Given the description of an element on the screen output the (x, y) to click on. 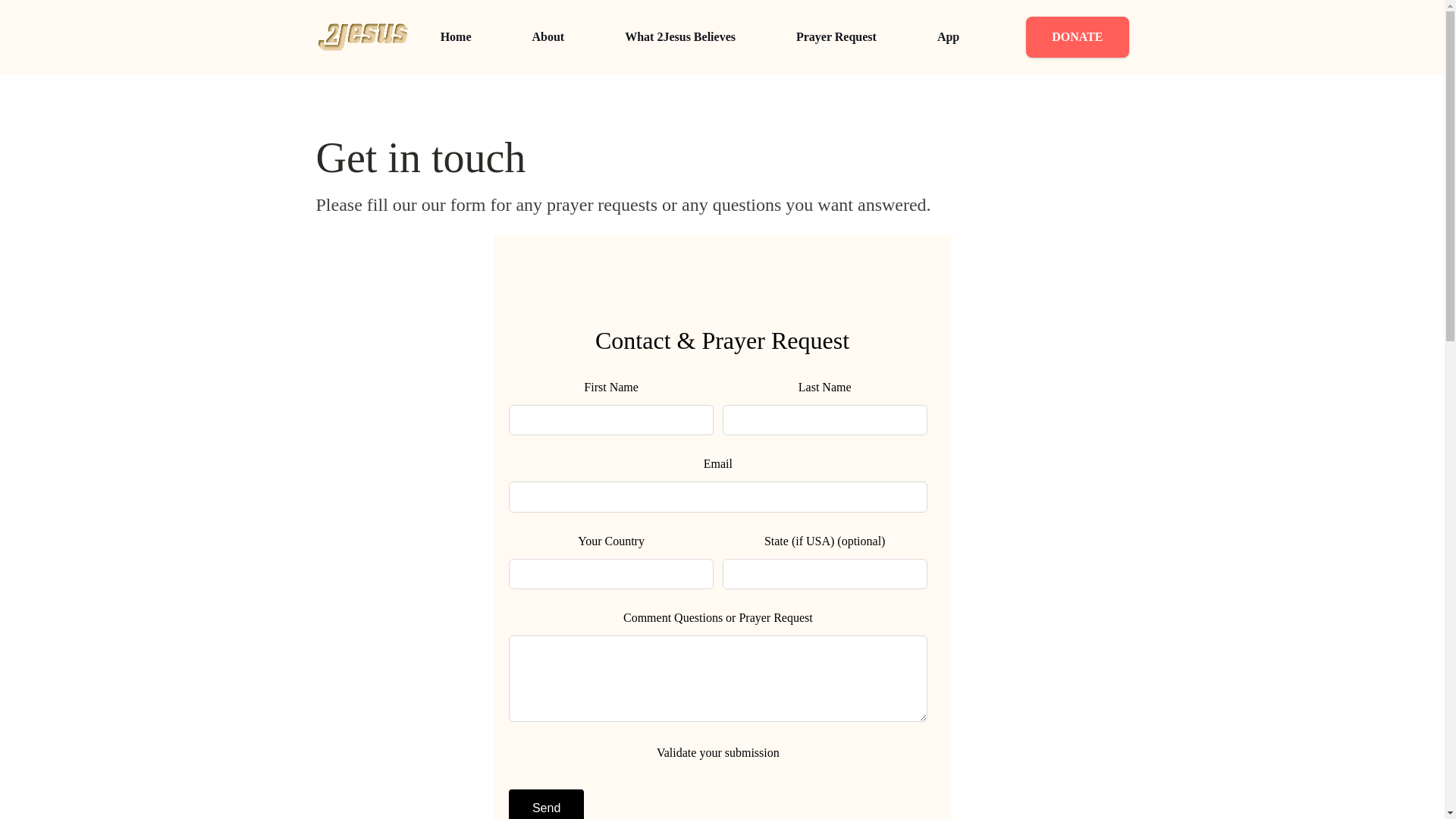
App (947, 37)
Home (455, 37)
What 2Jesus Believes (680, 37)
Send (545, 804)
Prayer Request (835, 37)
Send (545, 804)
DONATE (1077, 36)
About (547, 37)
